Given the description of an element on the screen output the (x, y) to click on. 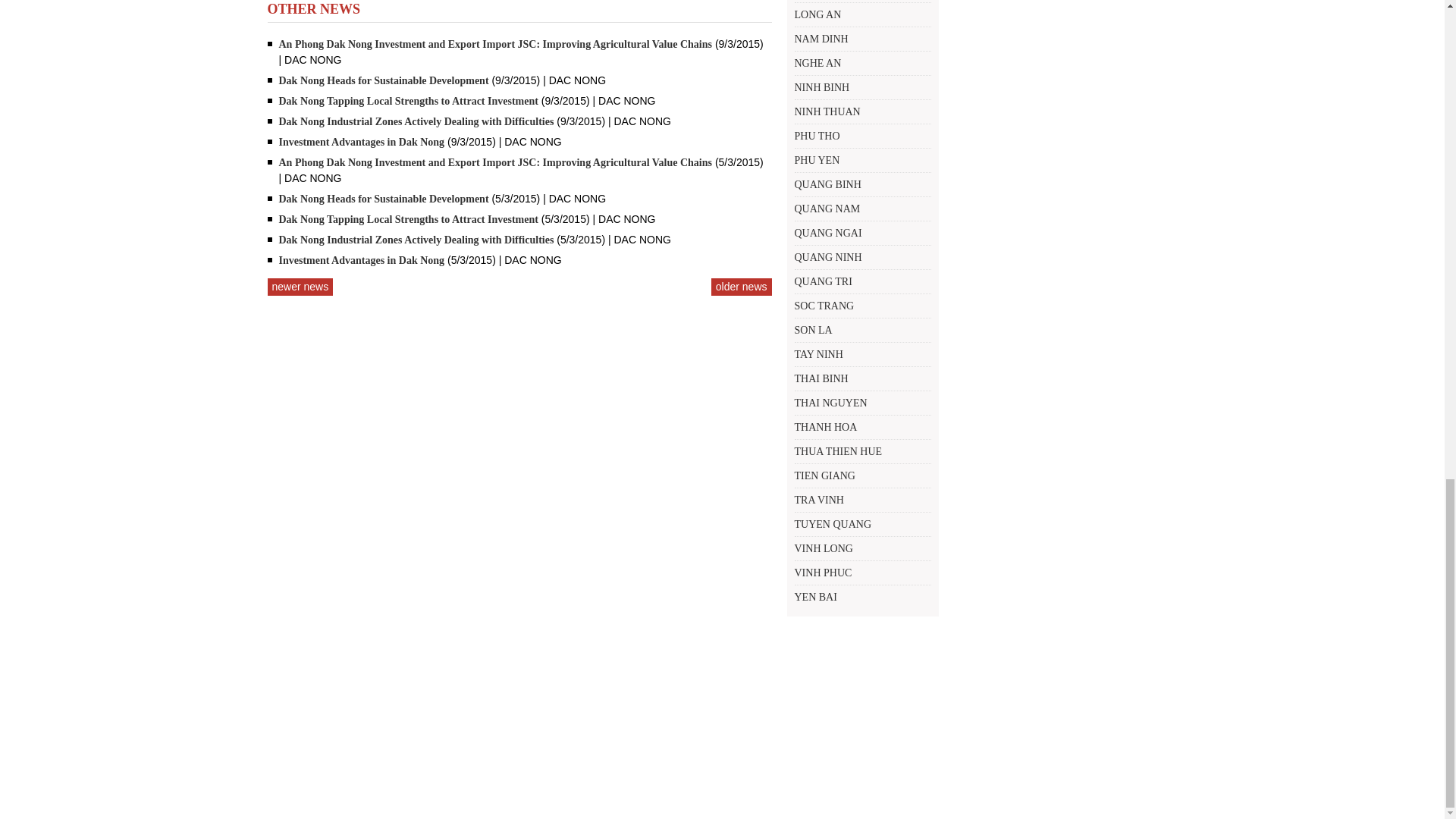
older news (741, 286)
newer news (299, 286)
